Given the description of an element on the screen output the (x, y) to click on. 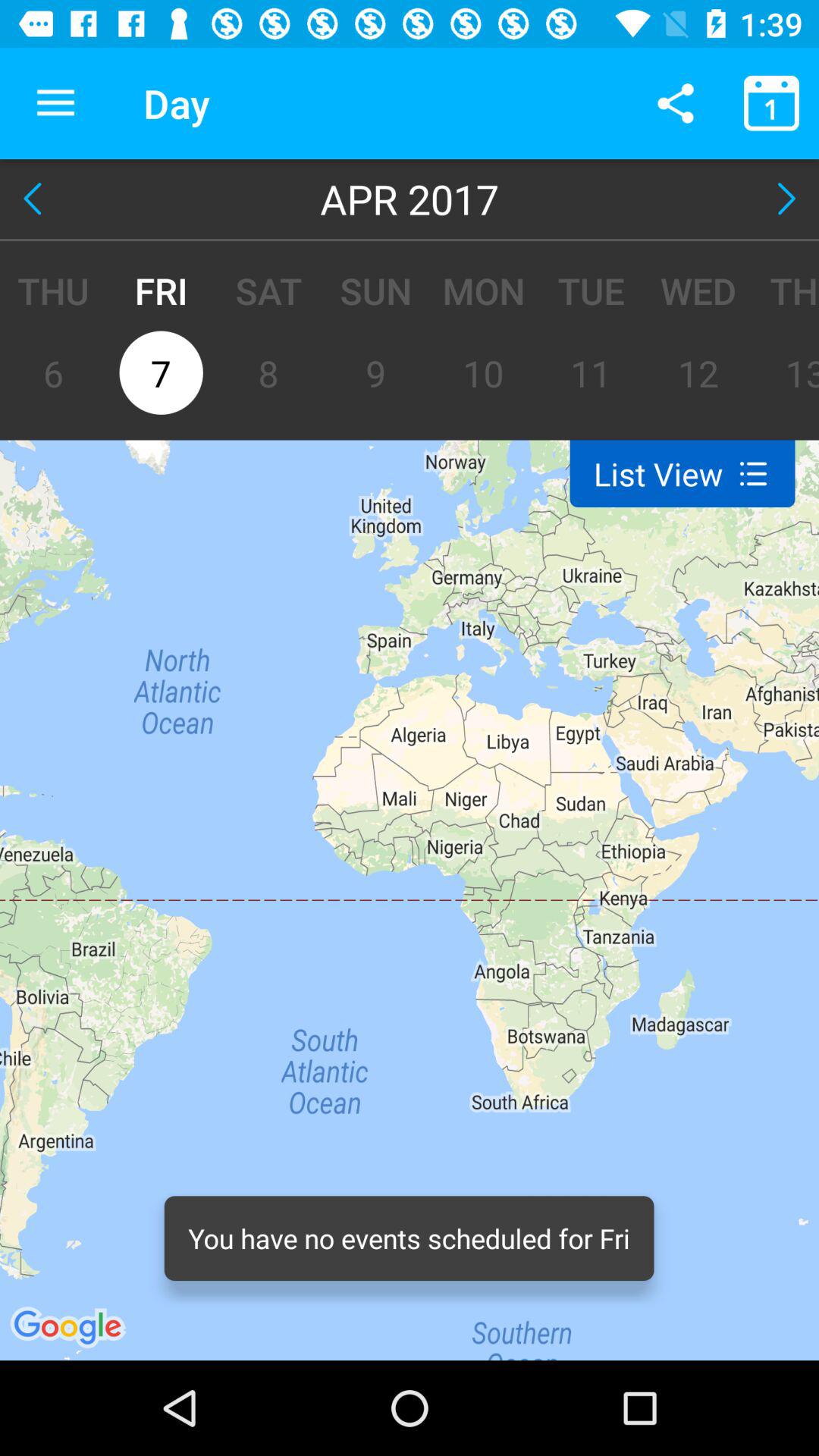
press the item to the left of apr 2017 item (35, 198)
